Given the description of an element on the screen output the (x, y) to click on. 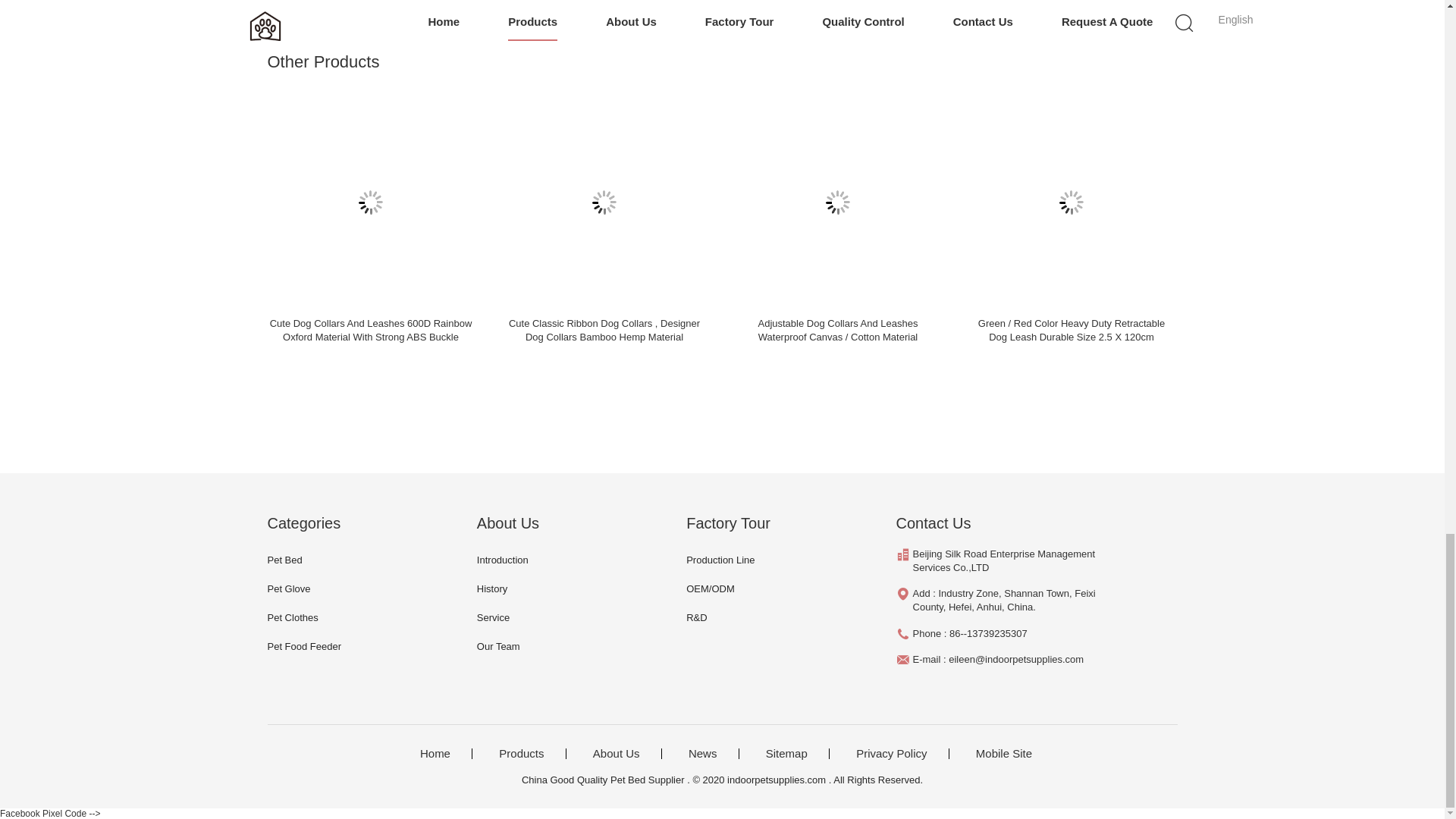
Contact Now (504, 3)
